Given the description of an element on the screen output the (x, y) to click on. 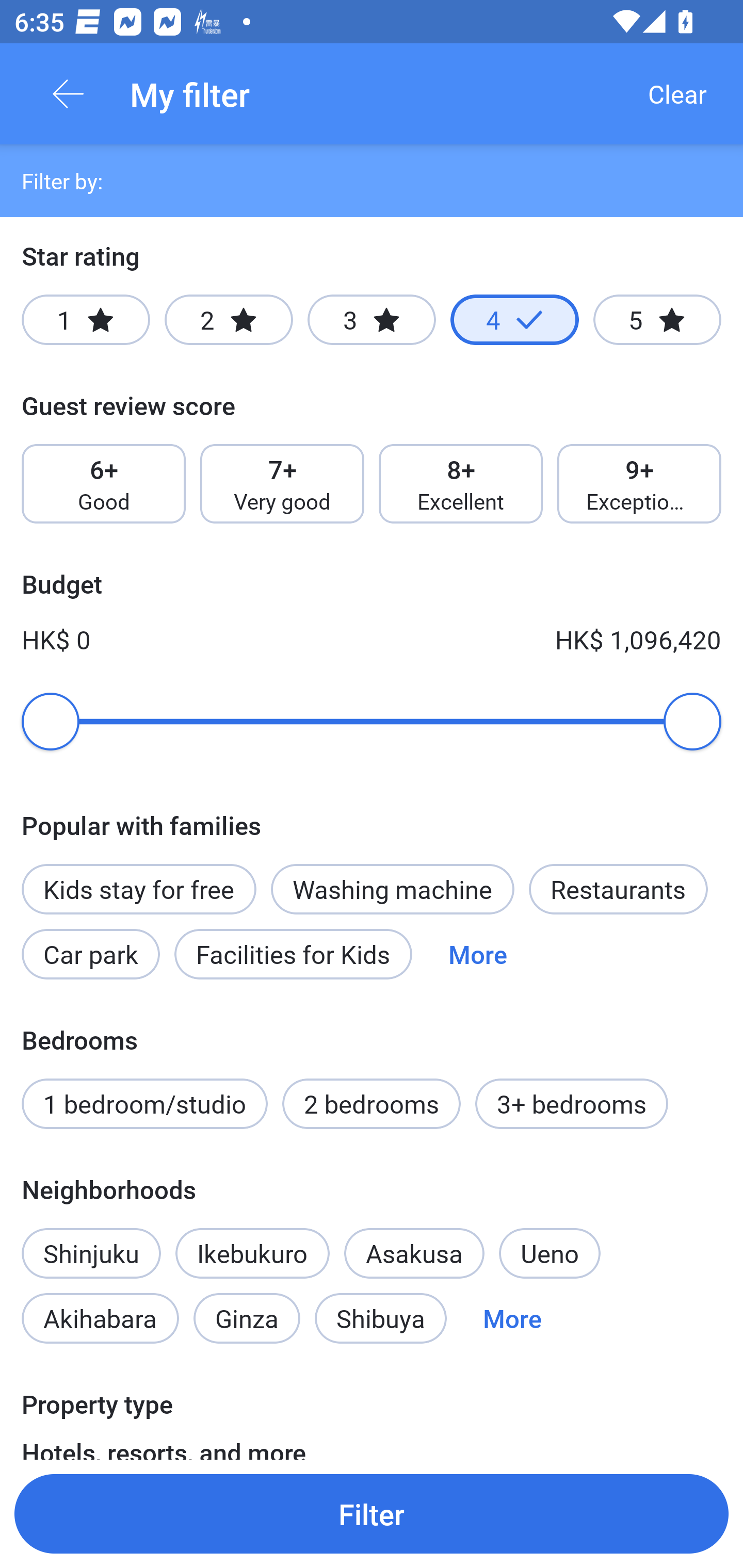
Clear (676, 93)
1 (85, 319)
2 (228, 319)
3 (371, 319)
5 (657, 319)
6+ Good (103, 483)
7+ Very good (281, 483)
8+ Excellent (460, 483)
9+ Exceptional (639, 483)
Kids stay for free (138, 888)
Washing machine (392, 888)
Restaurants (618, 888)
Car park (90, 954)
Facilities for Kids (293, 954)
More (477, 954)
1 bedroom/studio (144, 1103)
2 bedrooms (371, 1103)
3+ bedrooms (571, 1103)
Shinjuku (91, 1242)
Ikebukuro (252, 1253)
Asakusa (414, 1253)
Ueno (549, 1253)
Akihabara (100, 1317)
Ginza (246, 1317)
Shibuya (380, 1317)
More (512, 1317)
Filter (371, 1513)
